Given the description of an element on the screen output the (x, y) to click on. 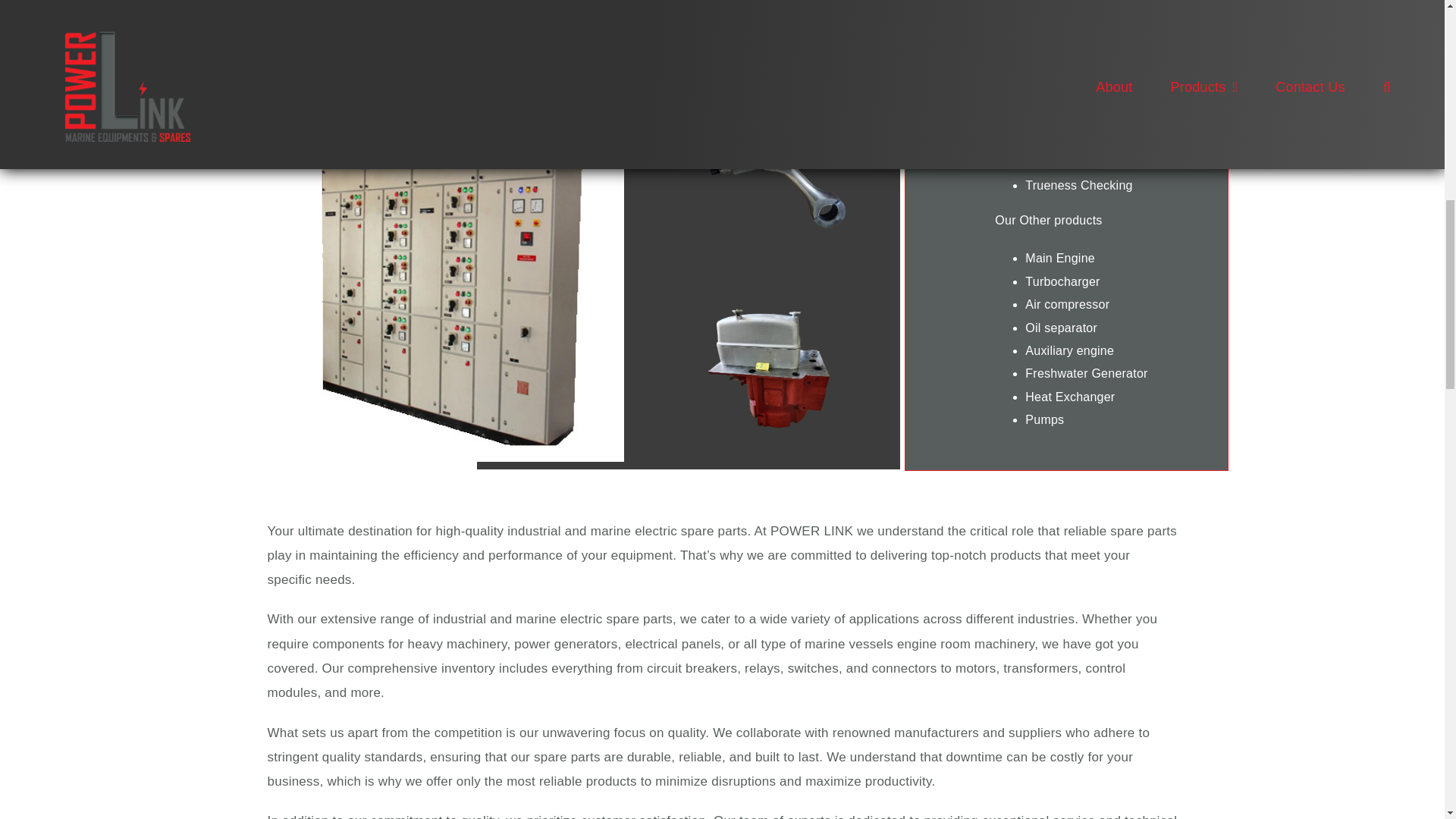
Terminal Blocks (659, 1)
